Given the description of an element on the screen output the (x, y) to click on. 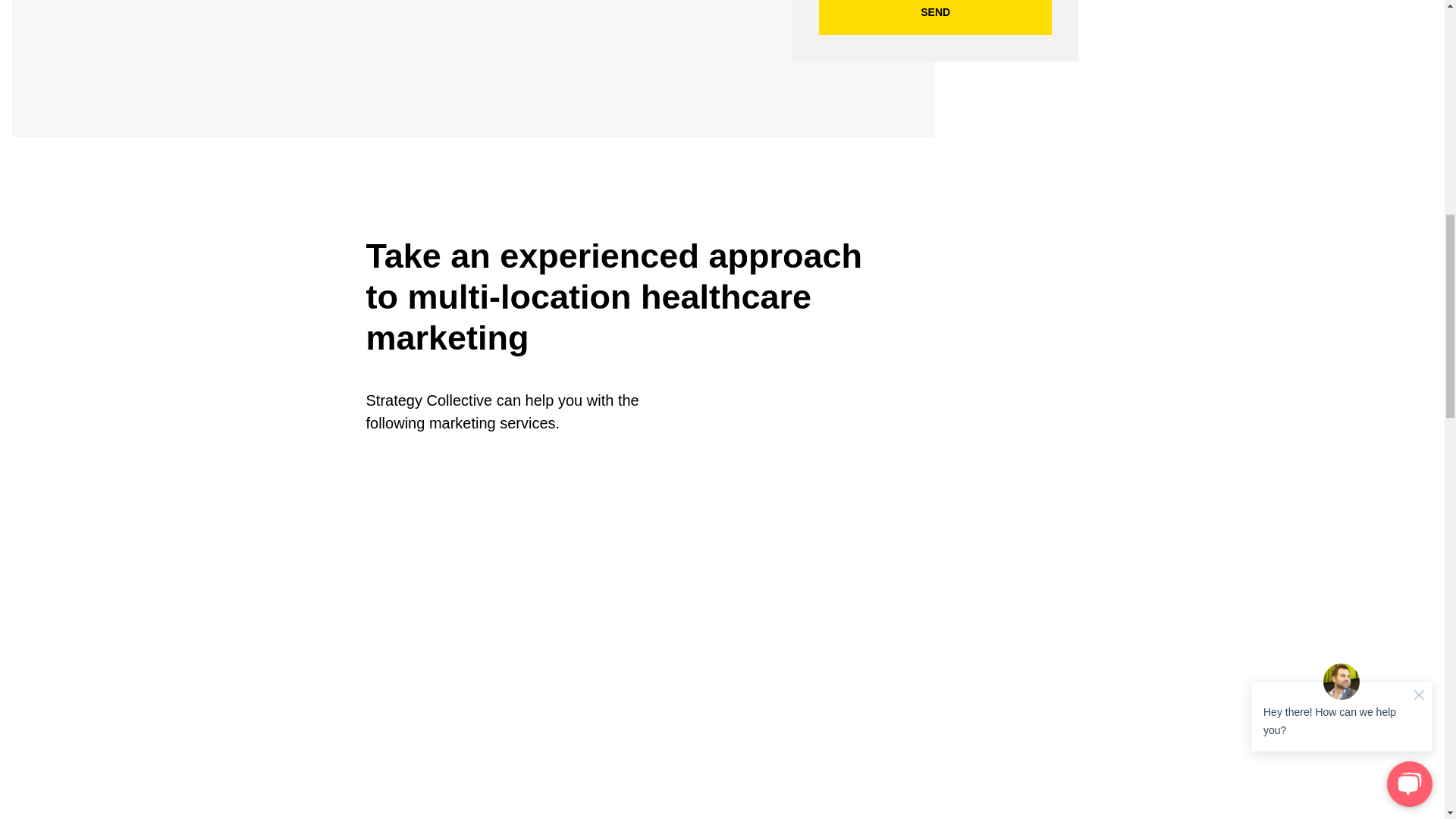
Send (935, 17)
Send (935, 17)
